Given the description of an element on the screen output the (x, y) to click on. 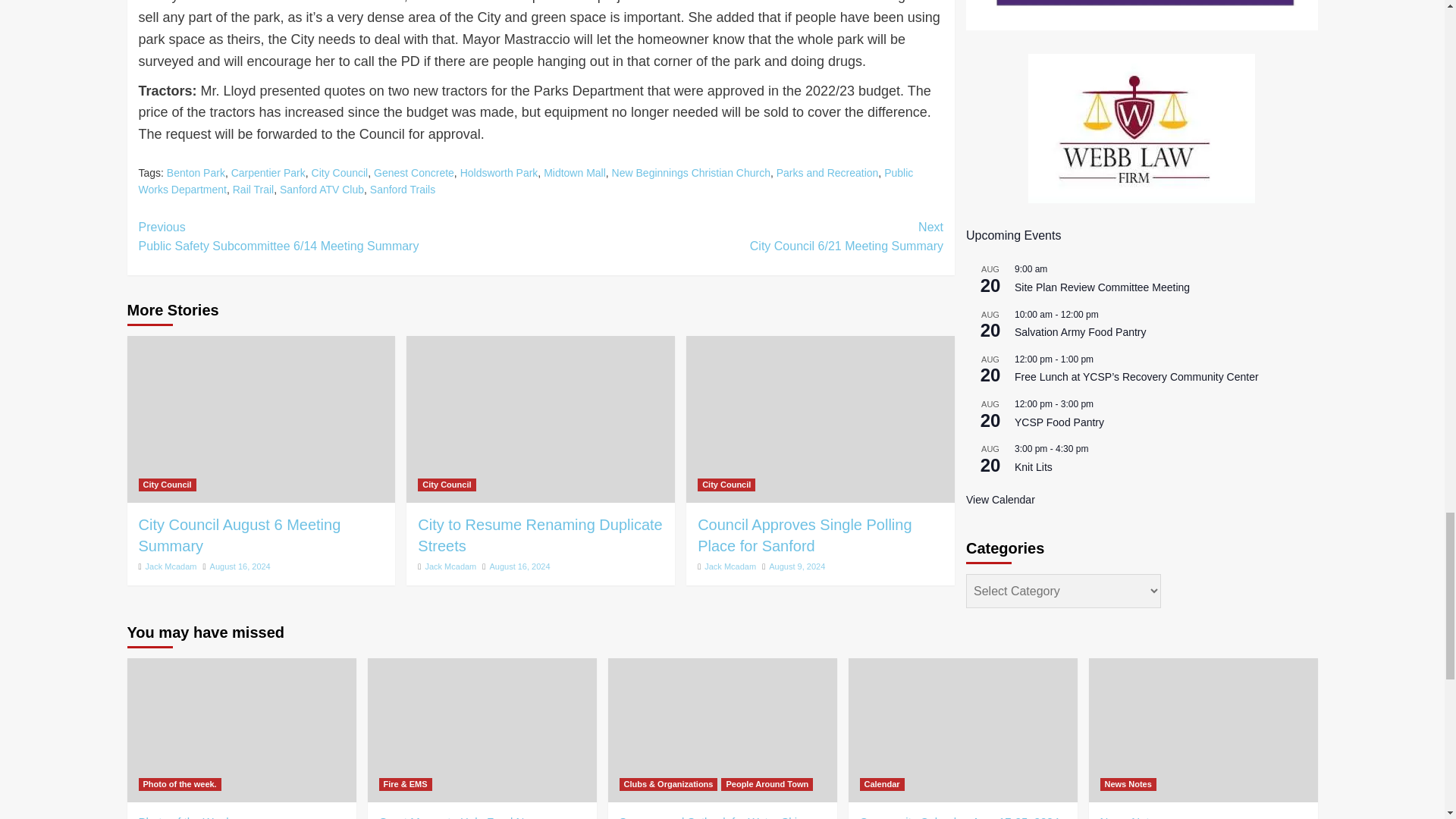
City Council (339, 173)
Holdsworth Park (499, 173)
Genest Concrete (414, 173)
Carpentier Park (268, 173)
Benton Park (196, 173)
